Given the description of an element on the screen output the (x, y) to click on. 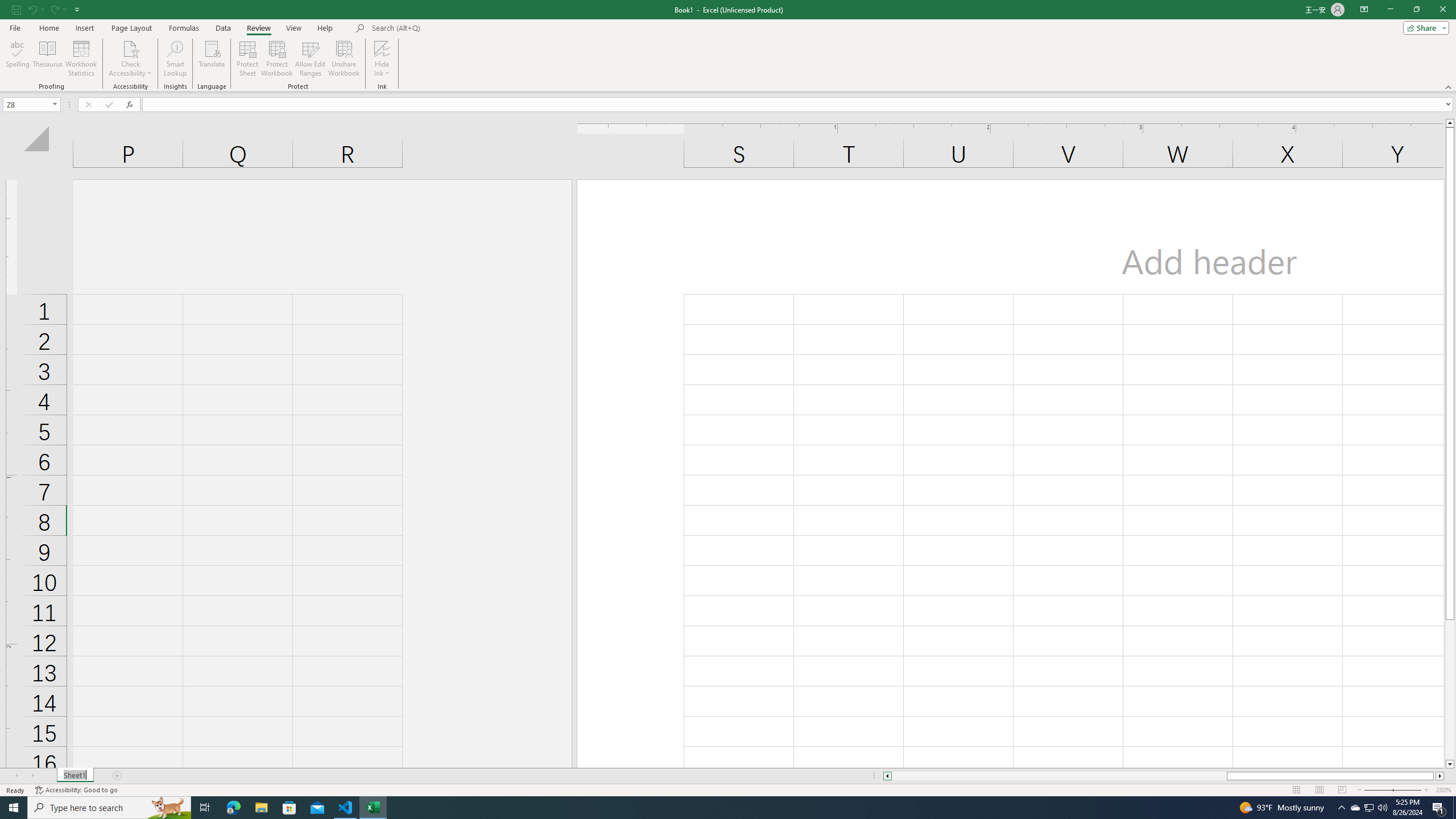
Unshare Workbook (344, 58)
